Given the description of an element on the screen output the (x, y) to click on. 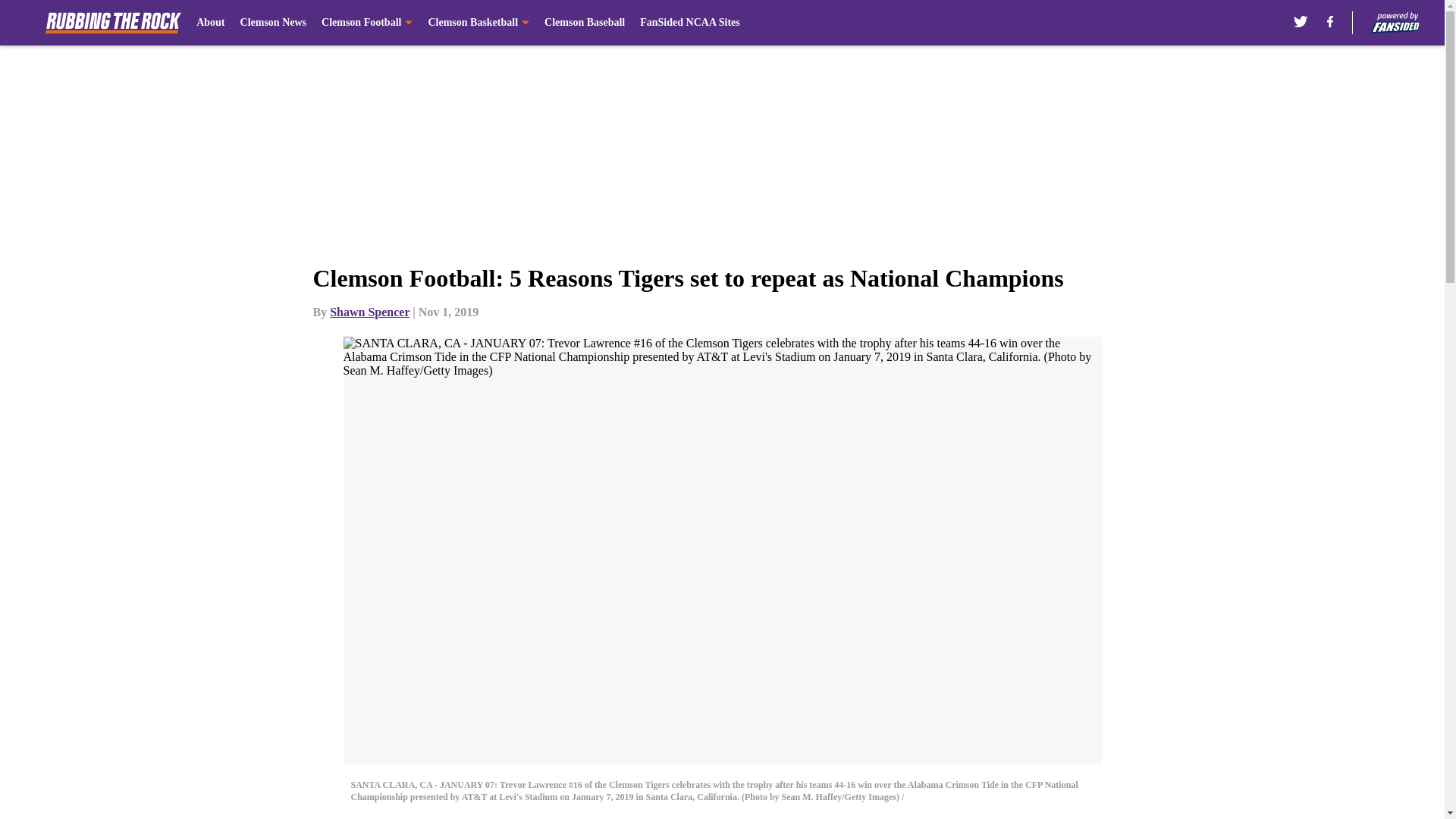
FanSided NCAA Sites (689, 22)
Clemson Baseball (584, 22)
Shawn Spencer (369, 311)
About (210, 22)
Clemson News (273, 22)
